Given the description of an element on the screen output the (x, y) to click on. 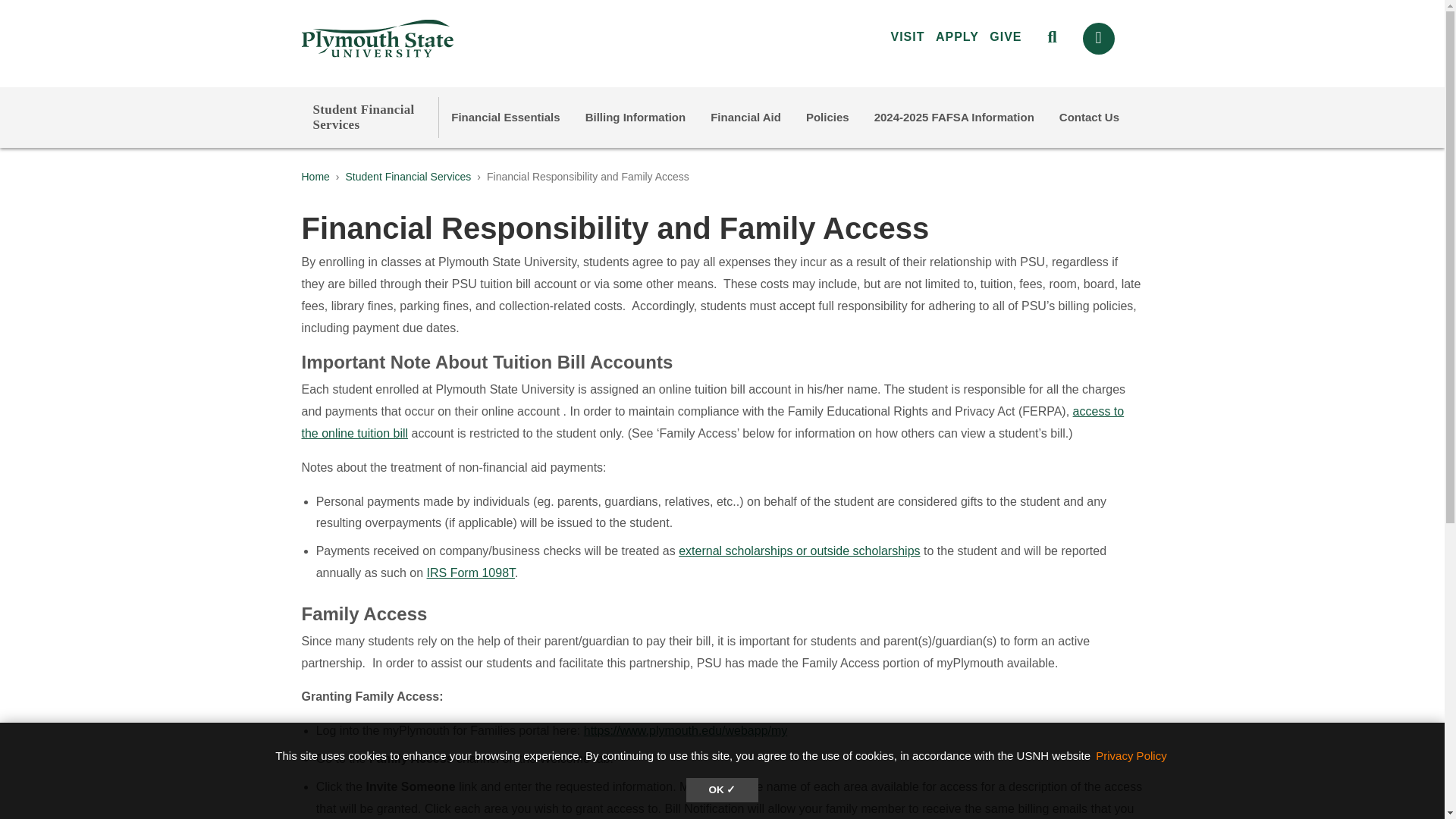
Plymouth State University (376, 38)
Billing Information (635, 117)
Plymouth State University (481, 38)
Financial Essentials (505, 117)
APPLY (957, 36)
Schedule a Visit (906, 36)
Tax Information (470, 572)
Student Financial Services (363, 116)
Privacy Policy (1131, 755)
